Given the description of an element on the screen output the (x, y) to click on. 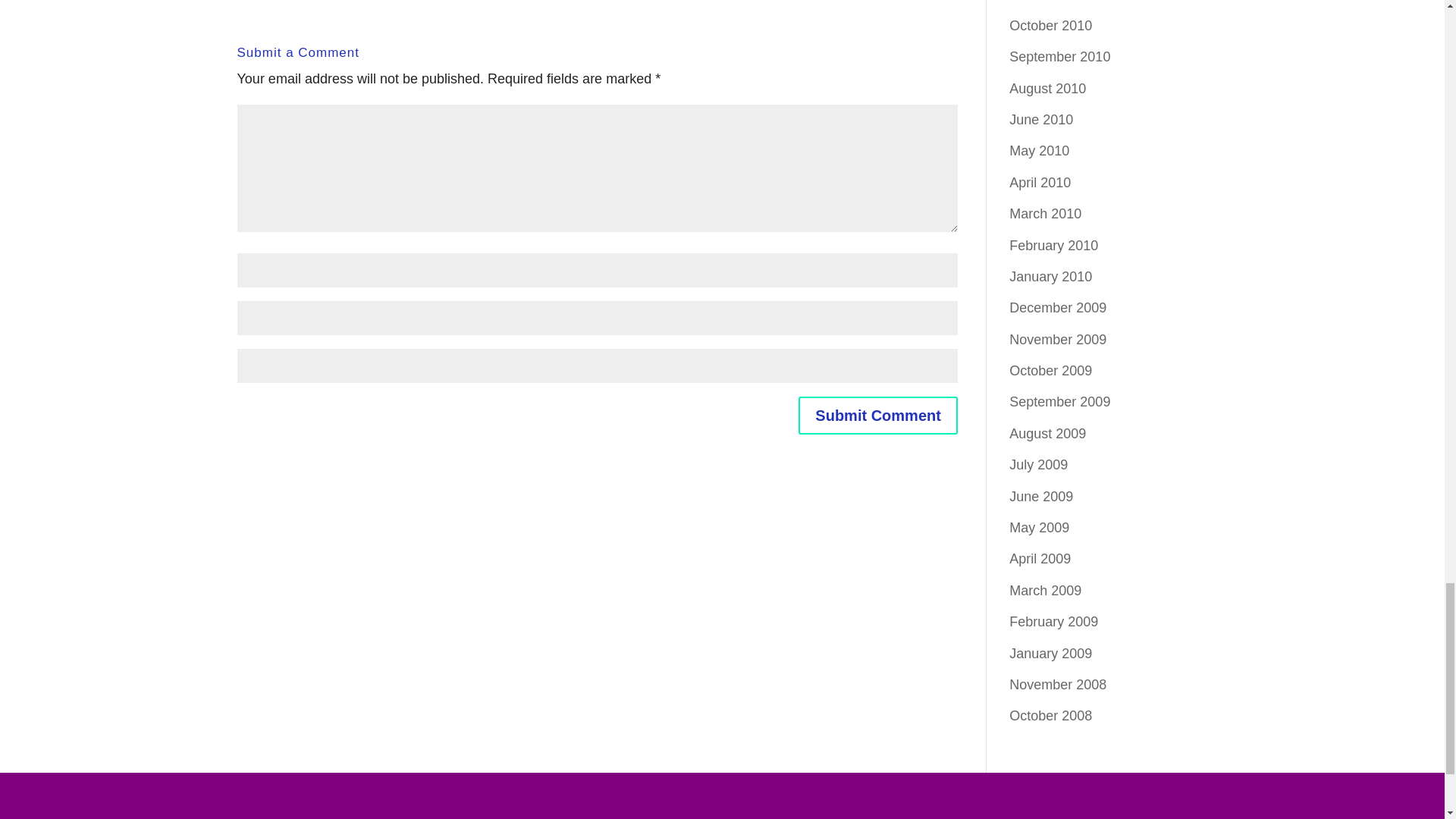
cropped-Dream-Site-Logo.png (721, 799)
Submit Comment (877, 415)
